Given the description of an element on the screen output the (x, y) to click on. 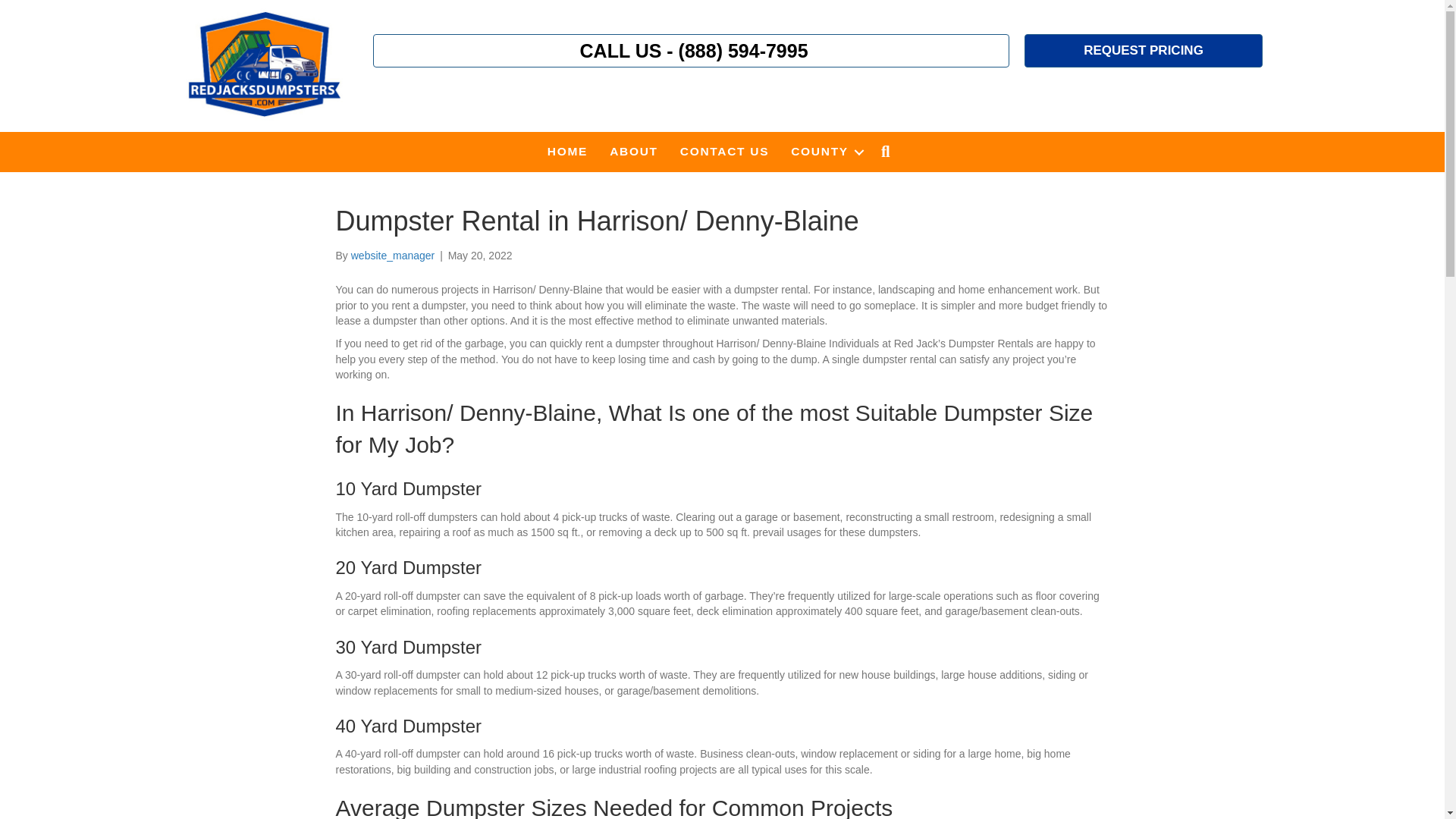
CONTACT US (723, 151)
REQUEST PRICING (1144, 50)
COUNTY (824, 151)
ABOUT (633, 151)
HOME (567, 151)
logo-png (264, 63)
SEARCH (888, 151)
